Given the description of an element on the screen output the (x, y) to click on. 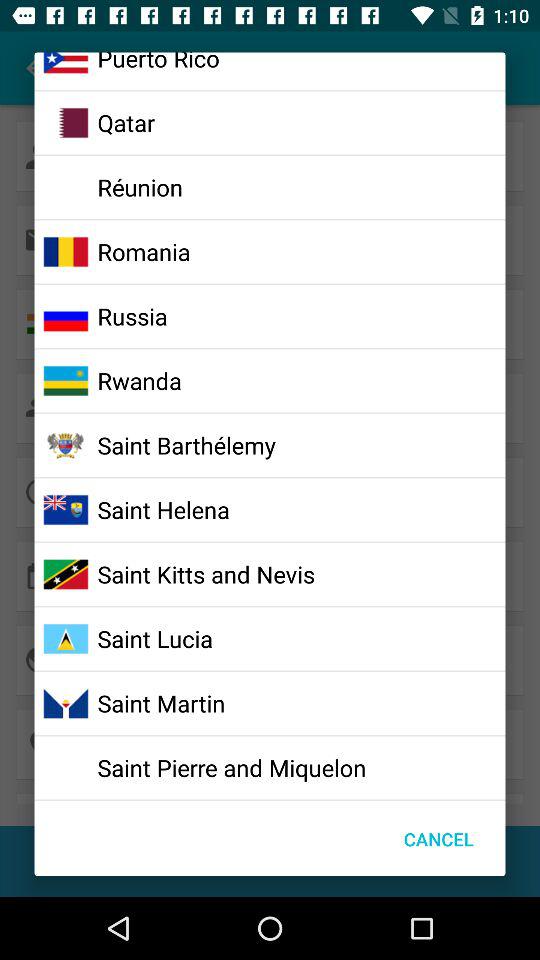
choose the item above saint martin item (154, 638)
